Given the description of an element on the screen output the (x, y) to click on. 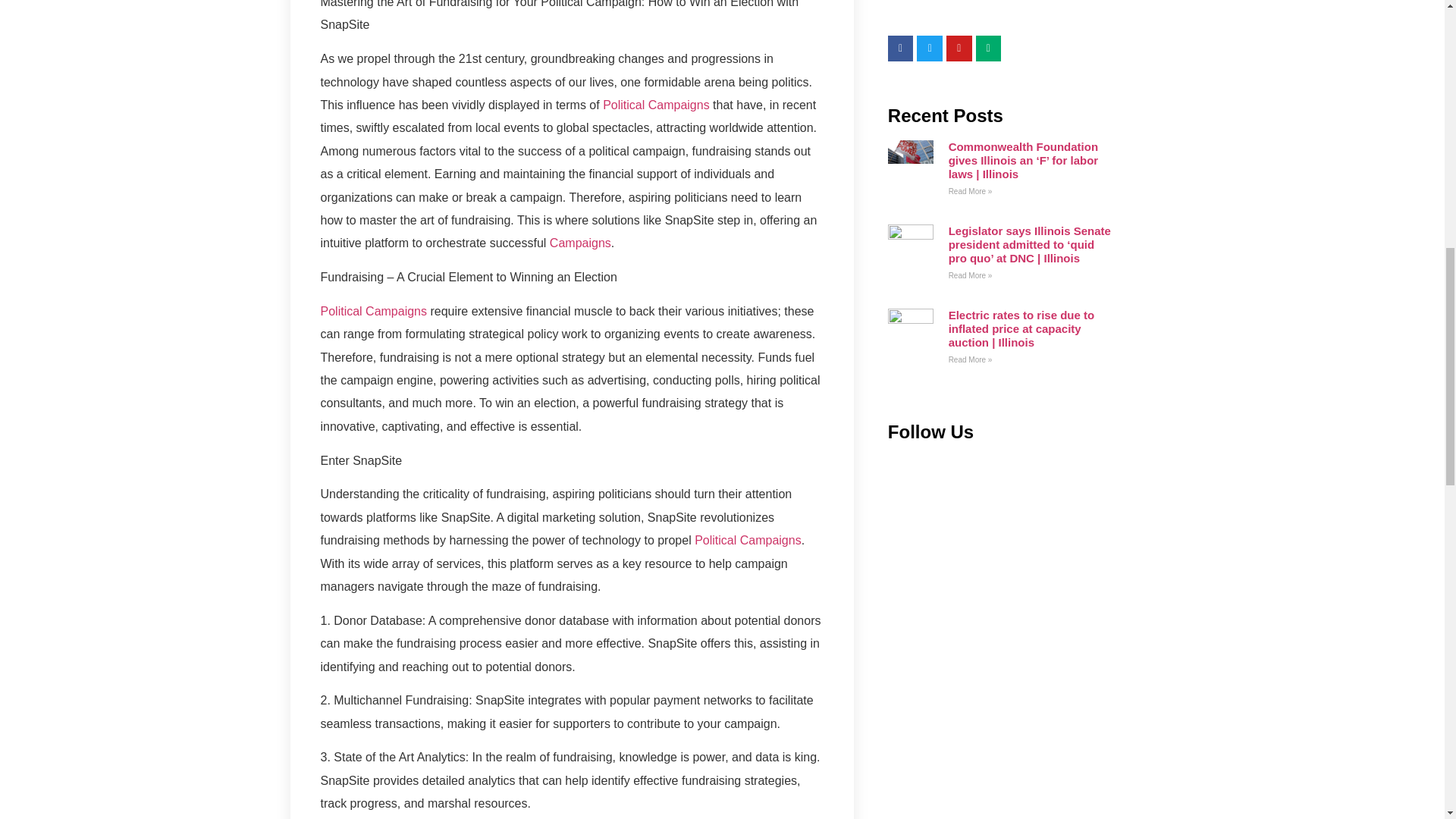
Political Campaigns (748, 540)
Campaigns (580, 242)
Political Campaigns (373, 310)
Political Campaigns (656, 104)
